Given the description of an element on the screen output the (x, y) to click on. 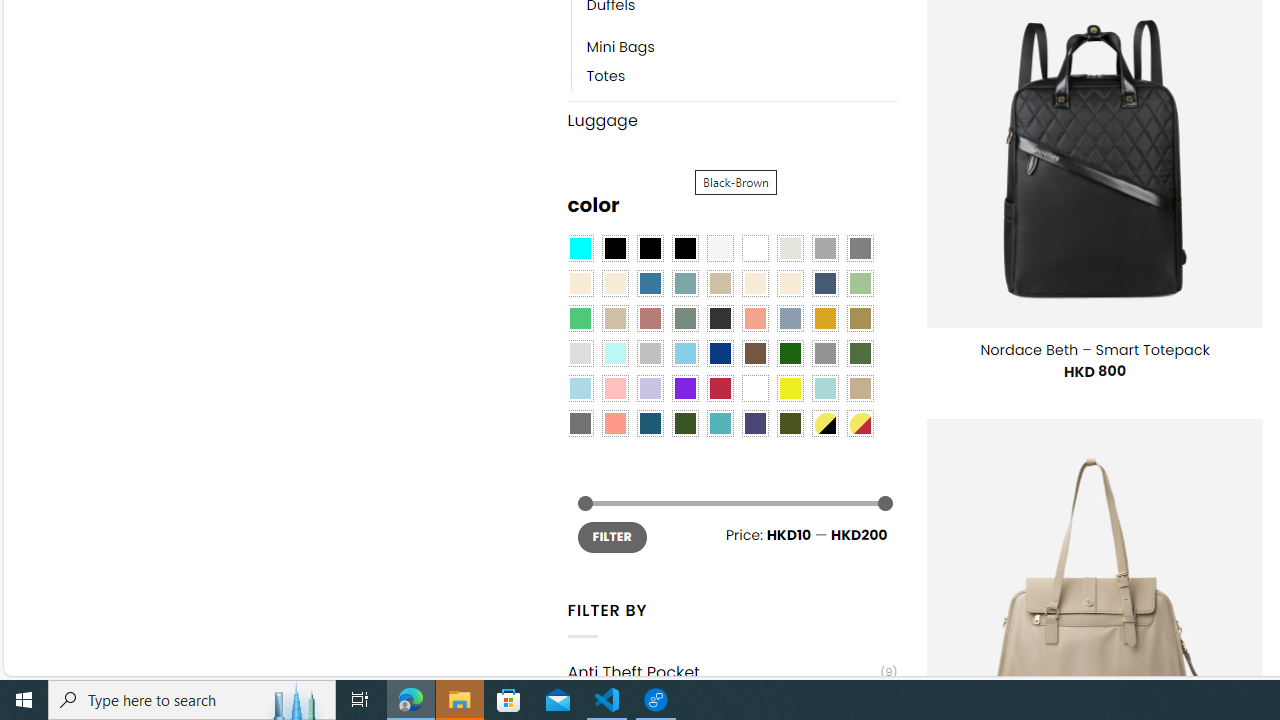
Teal (719, 424)
Totes (605, 76)
Hale Navy (824, 283)
Dark Gray (824, 249)
Dark Green (789, 354)
Peach Pink (614, 424)
Totes (742, 76)
FILTER (612, 536)
Blue Sage (684, 283)
Anti Theft Pocket(9) (732, 672)
Yellow (789, 388)
Silver (650, 354)
Light Taupe (614, 318)
Dusty Blue (789, 318)
Coral (755, 318)
